Given the description of an element on the screen output the (x, y) to click on. 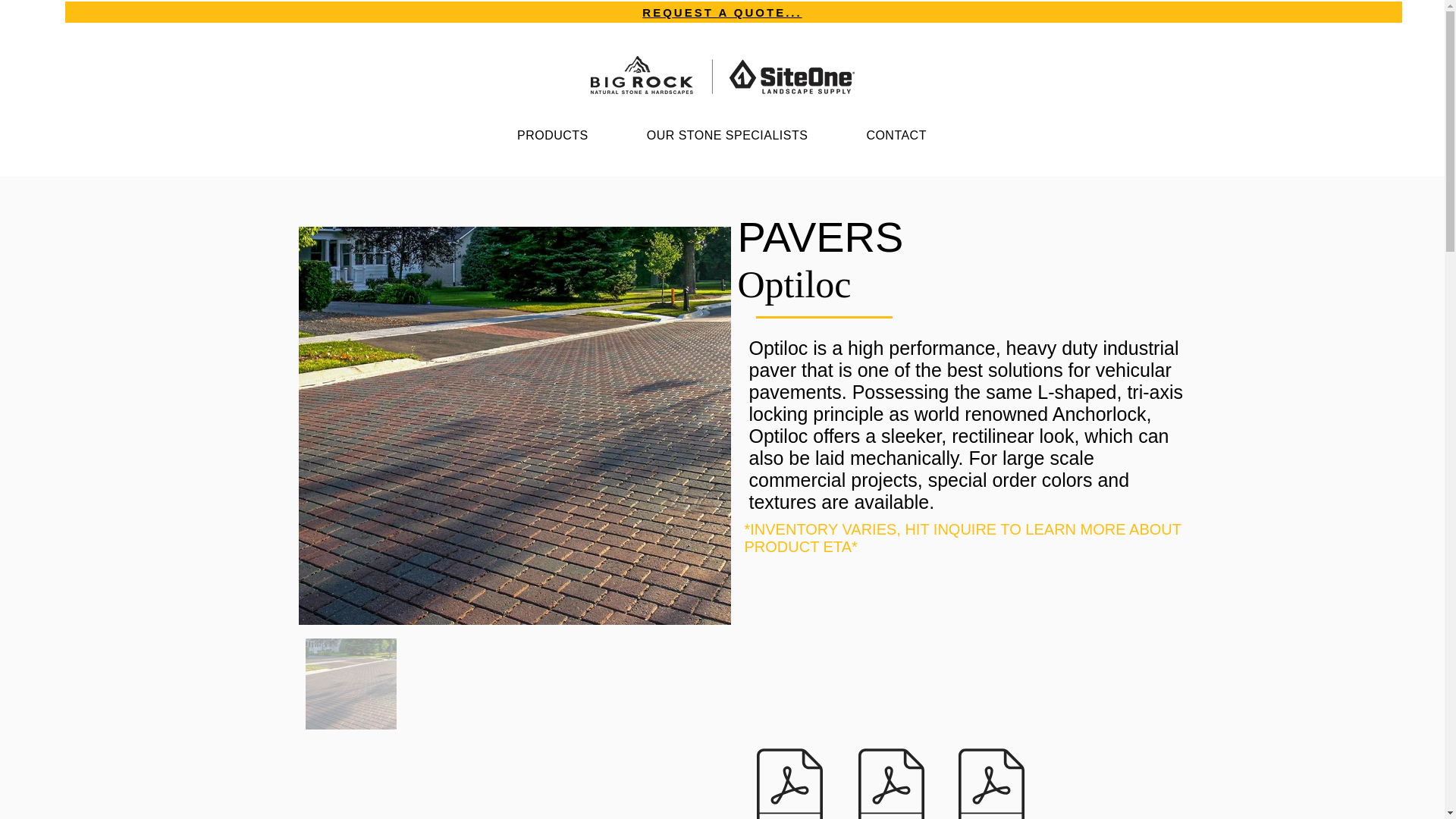
REQUEST A QUOTE... (722, 11)
OUR STONE SPECIALISTS (727, 135)
PRODUCTS (553, 135)
CONTACT (896, 135)
